Given the description of an element on the screen output the (x, y) to click on. 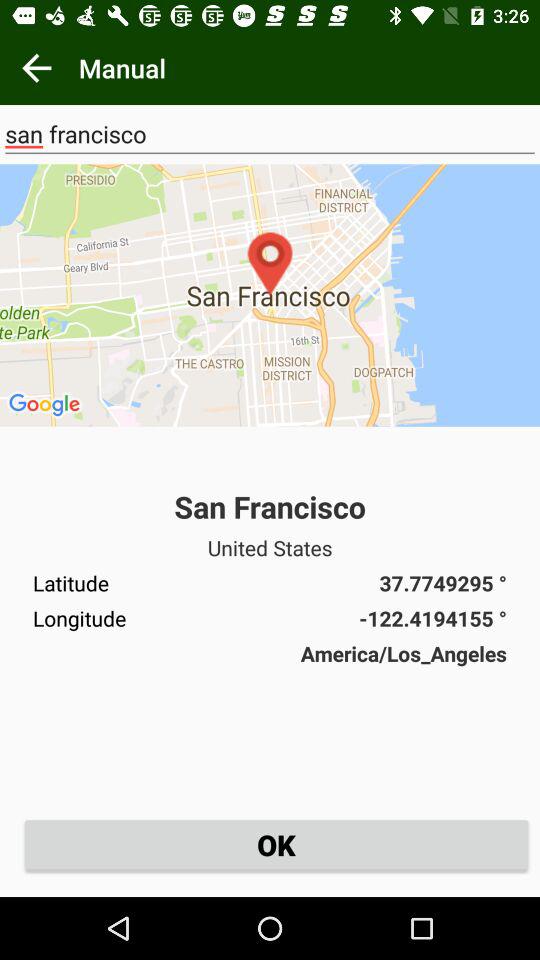
go back (36, 68)
